Given the description of an element on the screen output the (x, y) to click on. 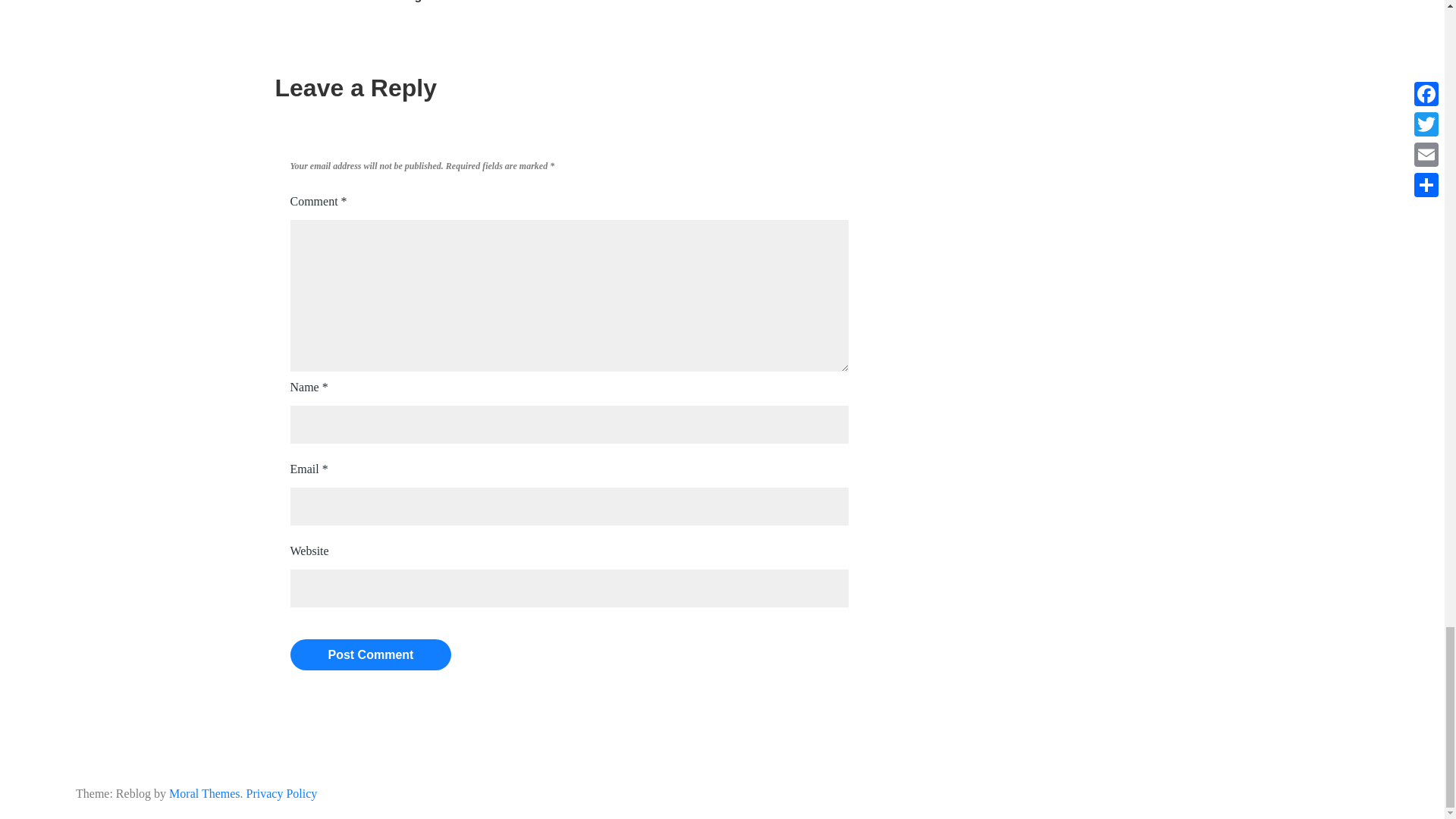
Post Comment (370, 654)
Post Comment (370, 654)
Moral Themes (204, 793)
